Given the description of an element on the screen output the (x, y) to click on. 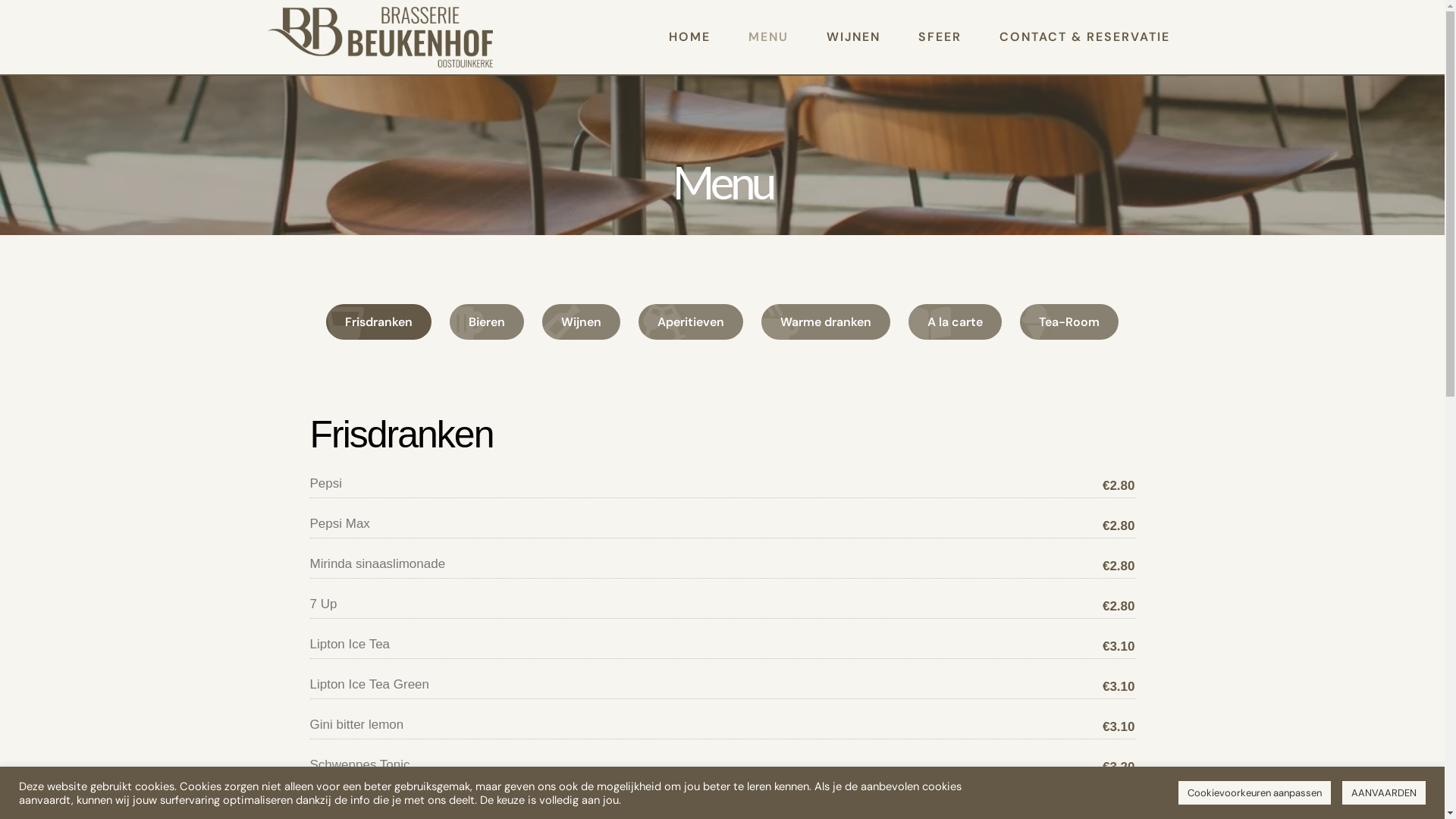
Cookievoorkeuren aanpassen Element type: text (1254, 792)
HOME Element type: text (689, 37)
CONTACT & RESERVATIE Element type: text (1084, 37)
MENU Element type: text (767, 37)
SFEER Element type: text (939, 37)
AANVAARDEN Element type: text (1383, 792)
WIJNEN Element type: text (853, 37)
